Given the description of an element on the screen output the (x, y) to click on. 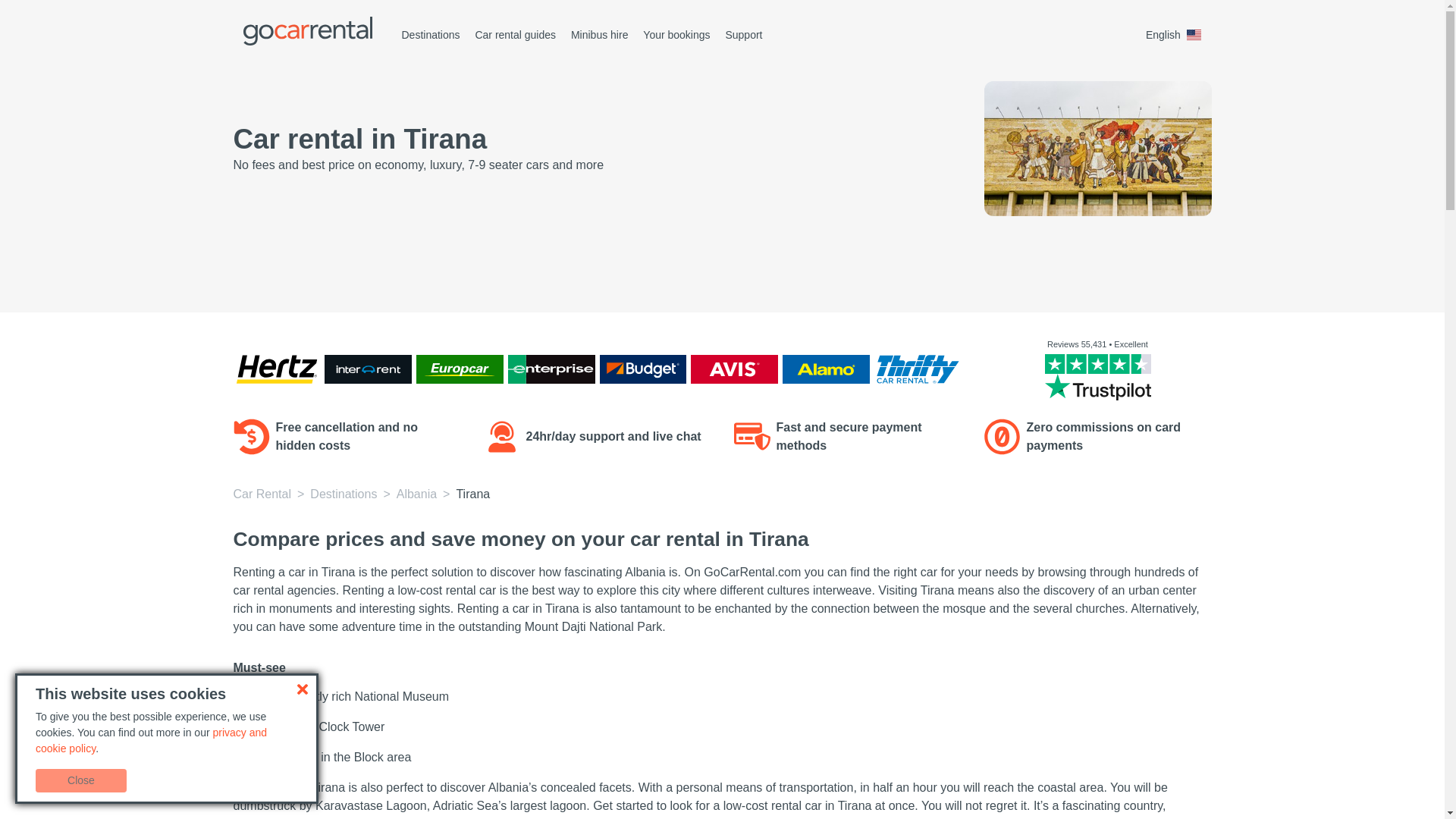
Destinations (430, 34)
Albania (416, 493)
Minibus hire (598, 34)
Destinations (343, 493)
Your bookings (676, 34)
Car rental guides (515, 34)
Support (743, 34)
Car Rental (261, 493)
English (1176, 34)
